Given the description of an element on the screen output the (x, y) to click on. 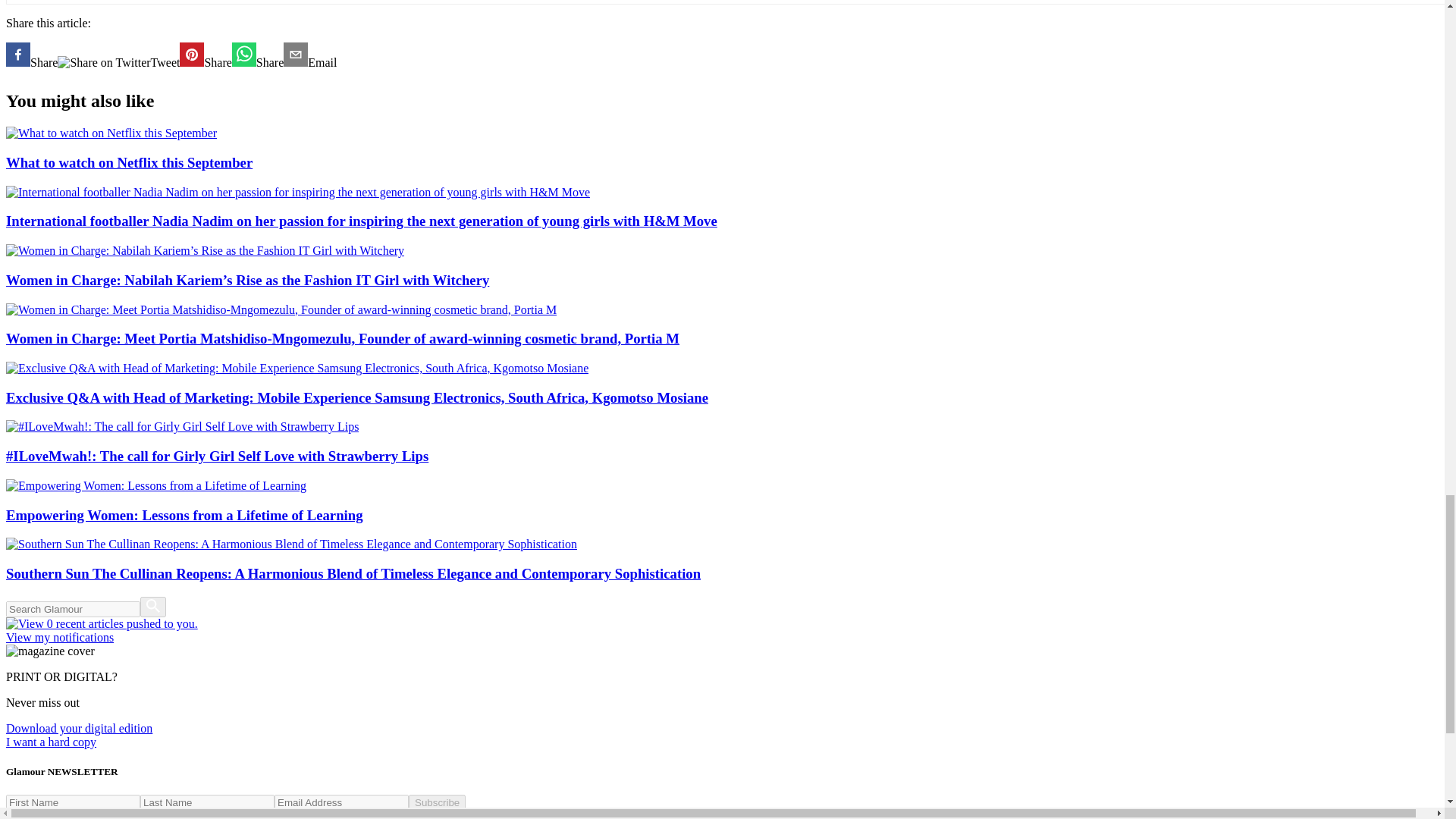
Share (257, 55)
Tweet (118, 66)
What to watch on Netflix this September (721, 148)
Share (31, 55)
Share on Twitter (103, 62)
Share (205, 55)
Email (309, 55)
